Given the description of an element on the screen output the (x, y) to click on. 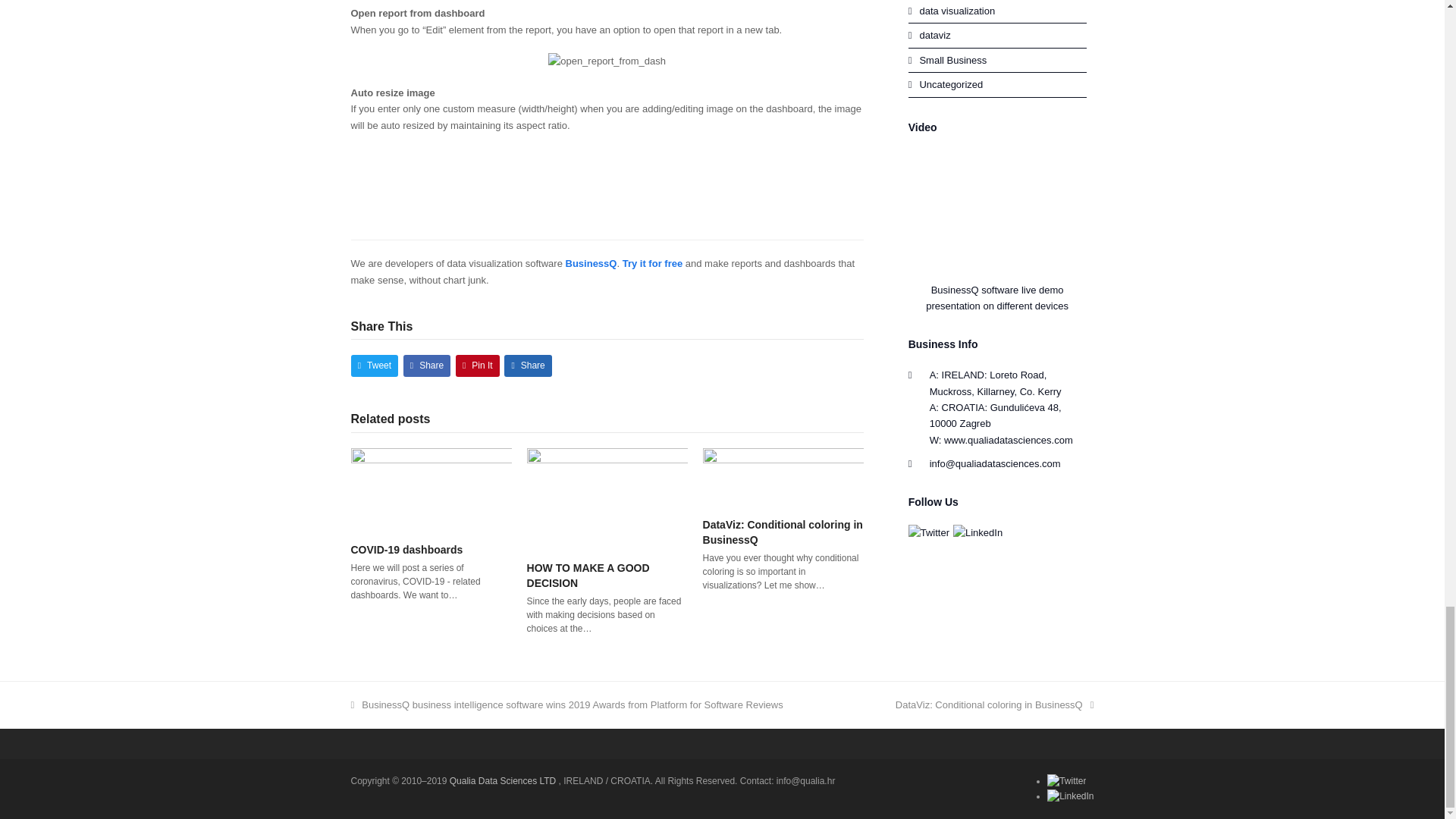
Tweet (373, 365)
COVID-19 dashboards (430, 488)
LinkedIn (978, 532)
DataViz: Conditional coloring in BusinessQ (783, 476)
Try it for free  (654, 263)
LinkedIn (1069, 796)
Share (427, 365)
HOW TO MAKE A GOOD DECISION (607, 497)
BusinessQ (591, 263)
Qualia BusinessQ v16.0 live presentation (1010, 207)
